Given the description of an element on the screen output the (x, y) to click on. 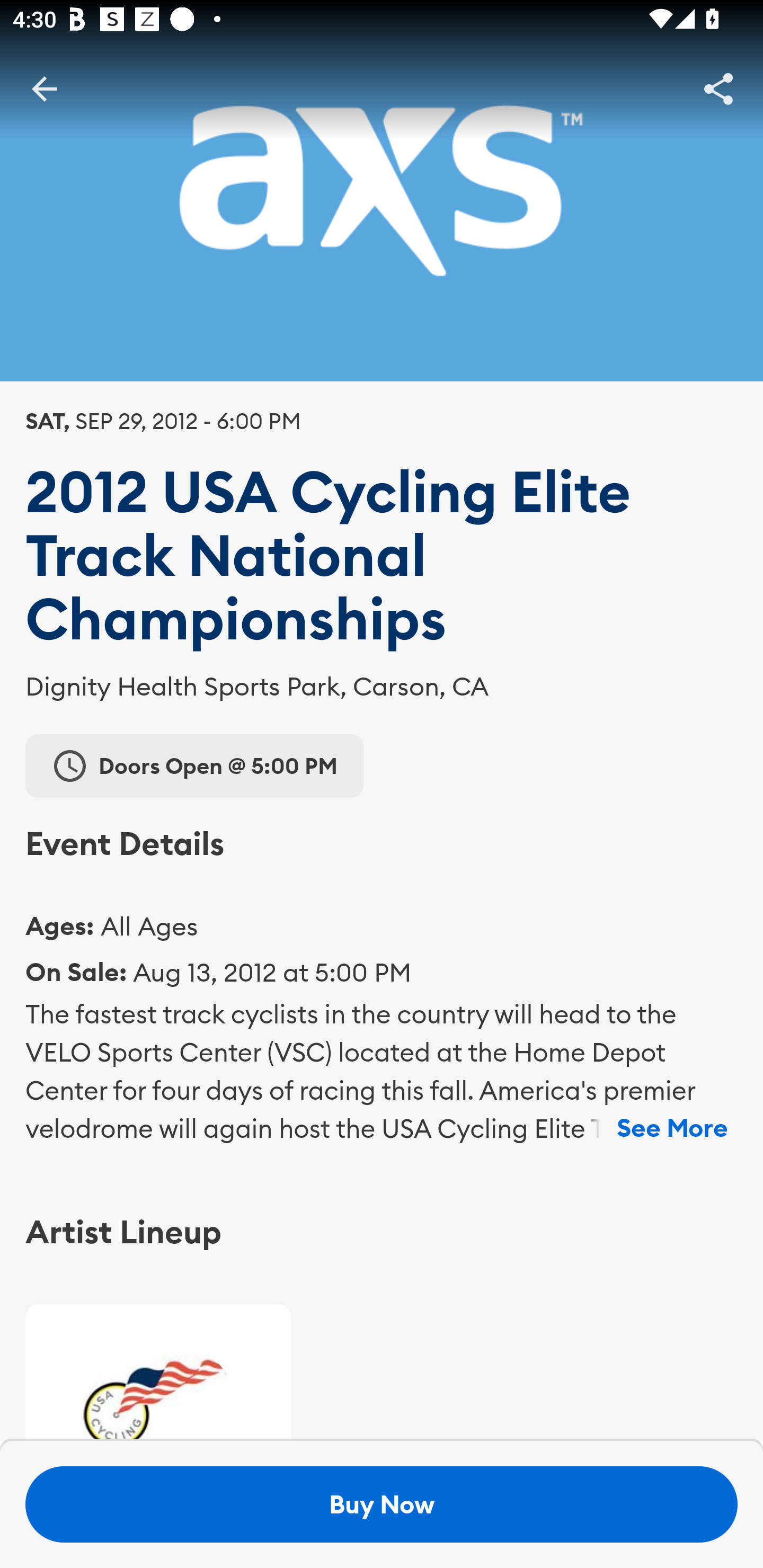
BackButton (44, 88)
Share (718, 88)
See More (671, 1127)
Buy Now (381, 1504)
